Given the description of an element on the screen output the (x, y) to click on. 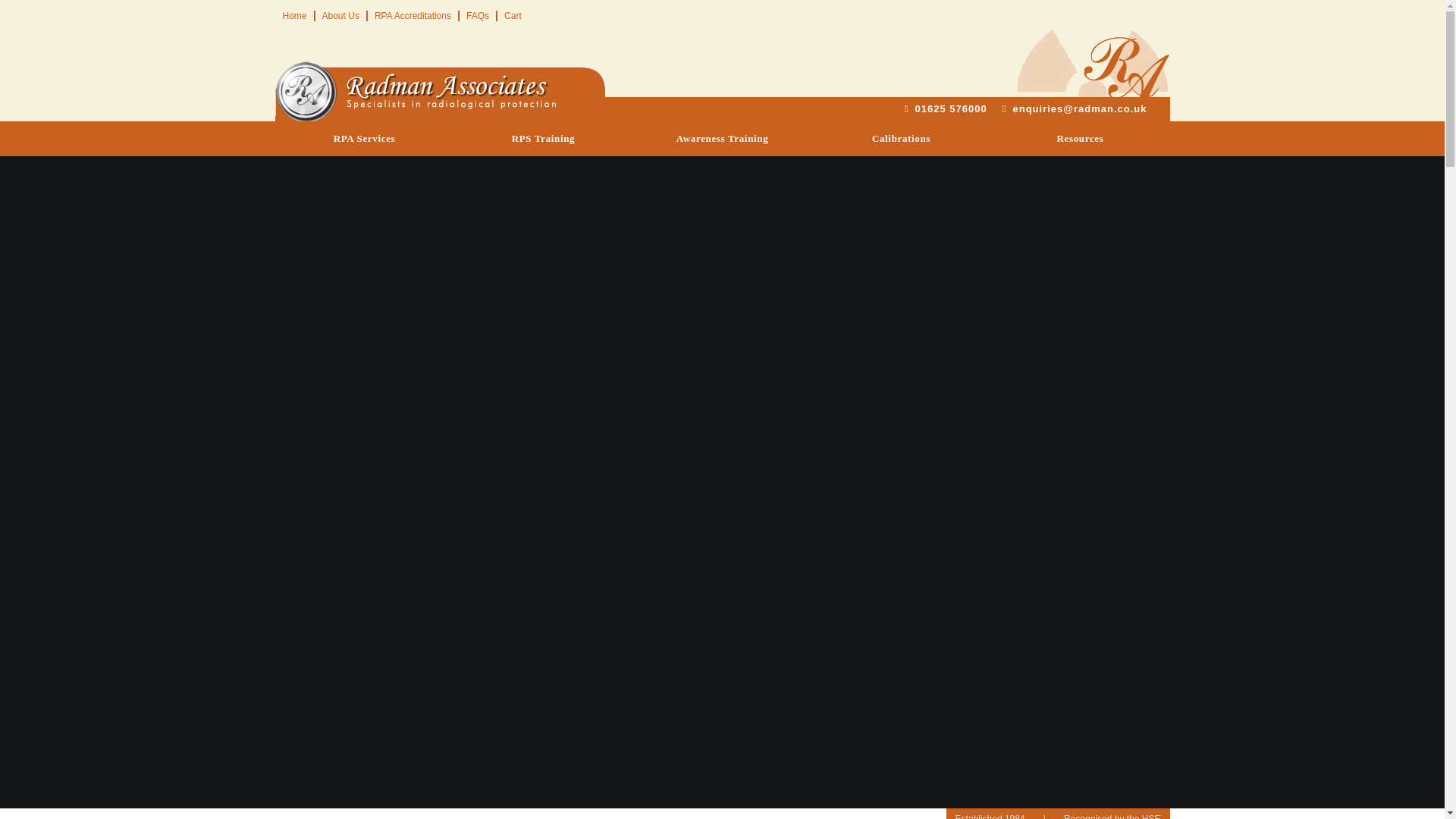
Resources (1079, 138)
Calibrations (900, 138)
RPA Services (363, 138)
Awareness Training (720, 138)
RPS Training (541, 138)
RPA Accreditations (412, 15)
About Us (340, 15)
